Given the description of an element on the screen output the (x, y) to click on. 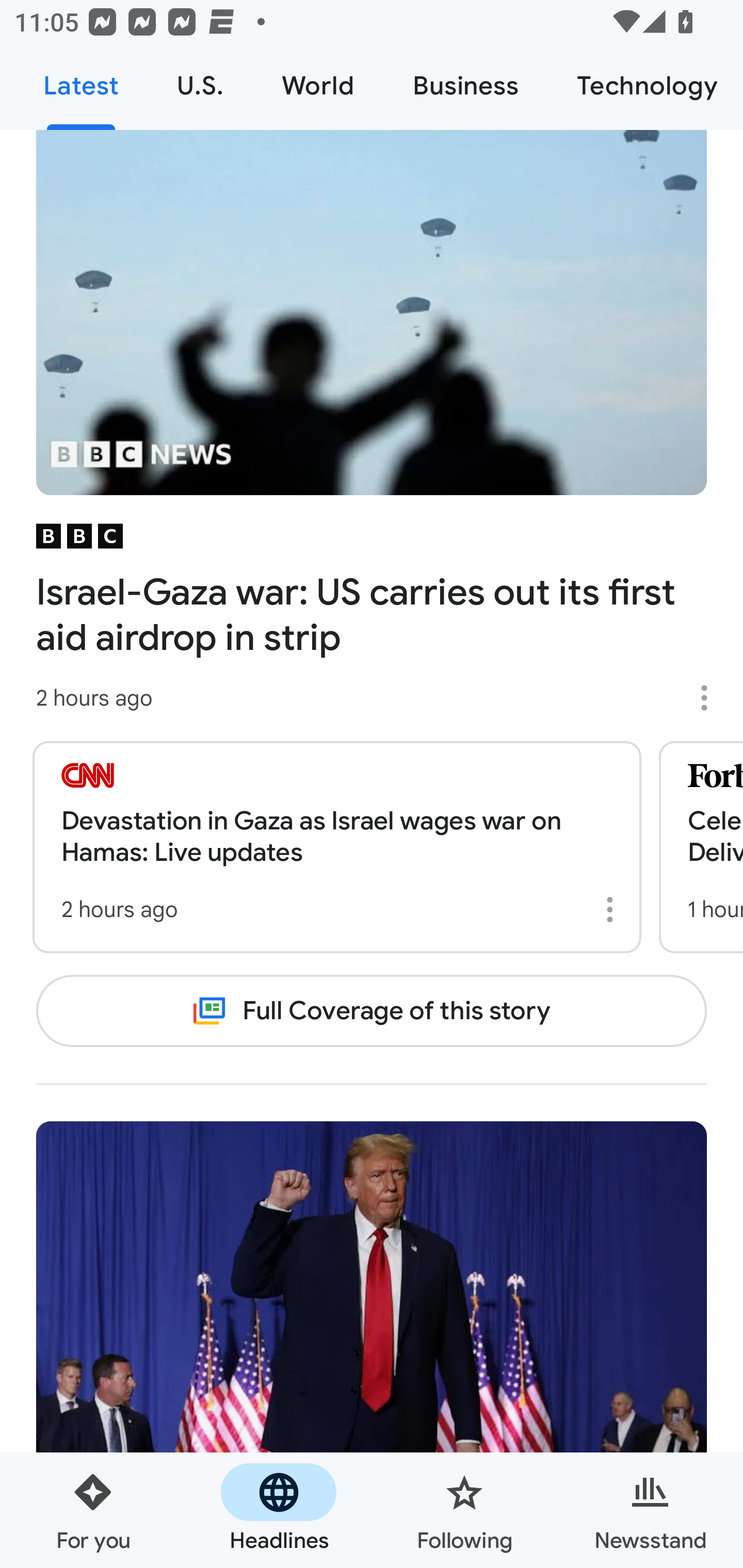
U.S. (199, 86)
World (317, 86)
Business (465, 86)
Technology (645, 86)
More options (711, 697)
More options (613, 909)
Full Coverage of this story (371, 1011)
For you (92, 1509)
Headlines (278, 1509)
Following (464, 1509)
Newsstand (650, 1509)
